Given the description of an element on the screen output the (x, y) to click on. 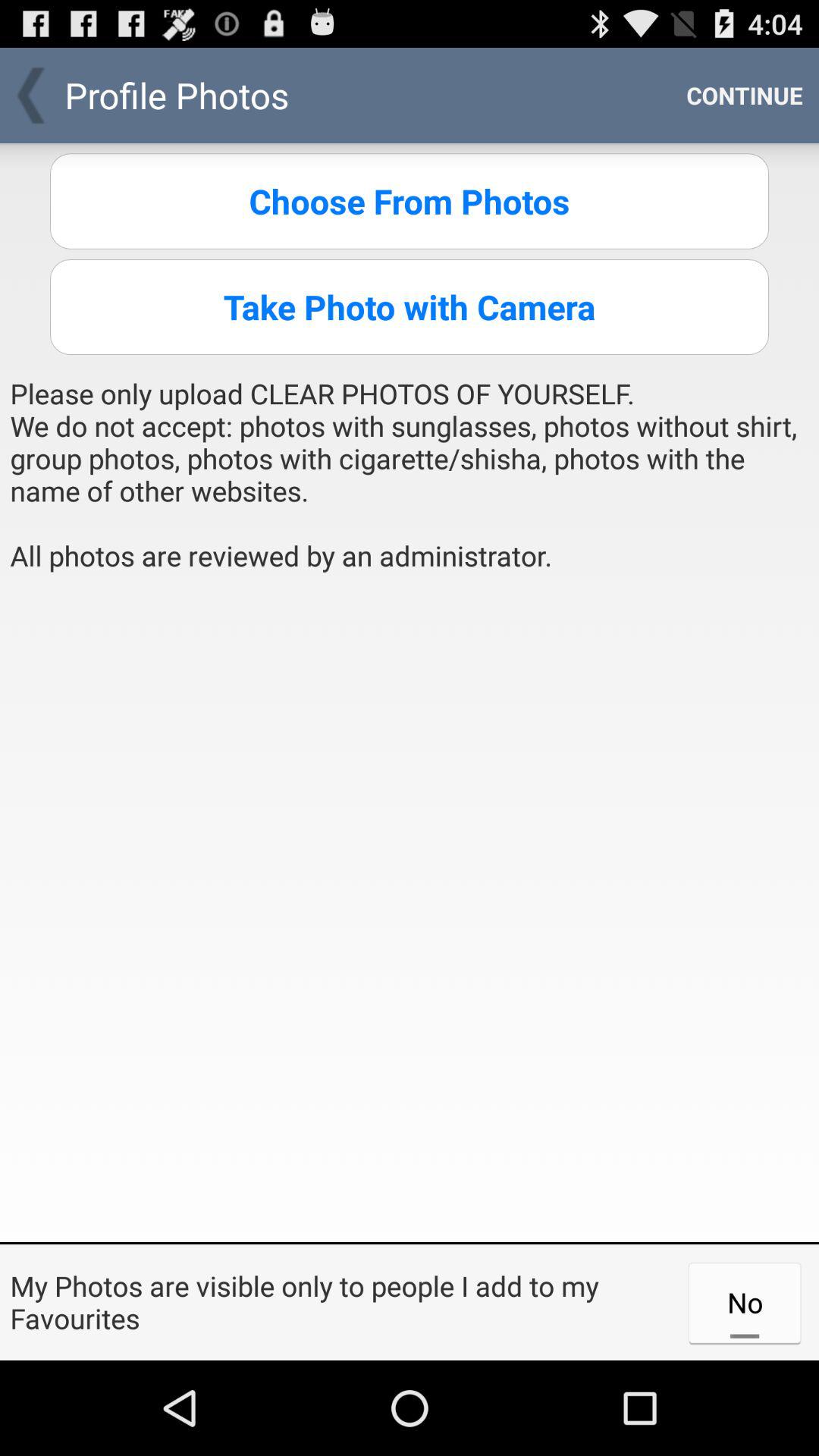
jump until the choose from photos button (409, 201)
